Given the description of an element on the screen output the (x, y) to click on. 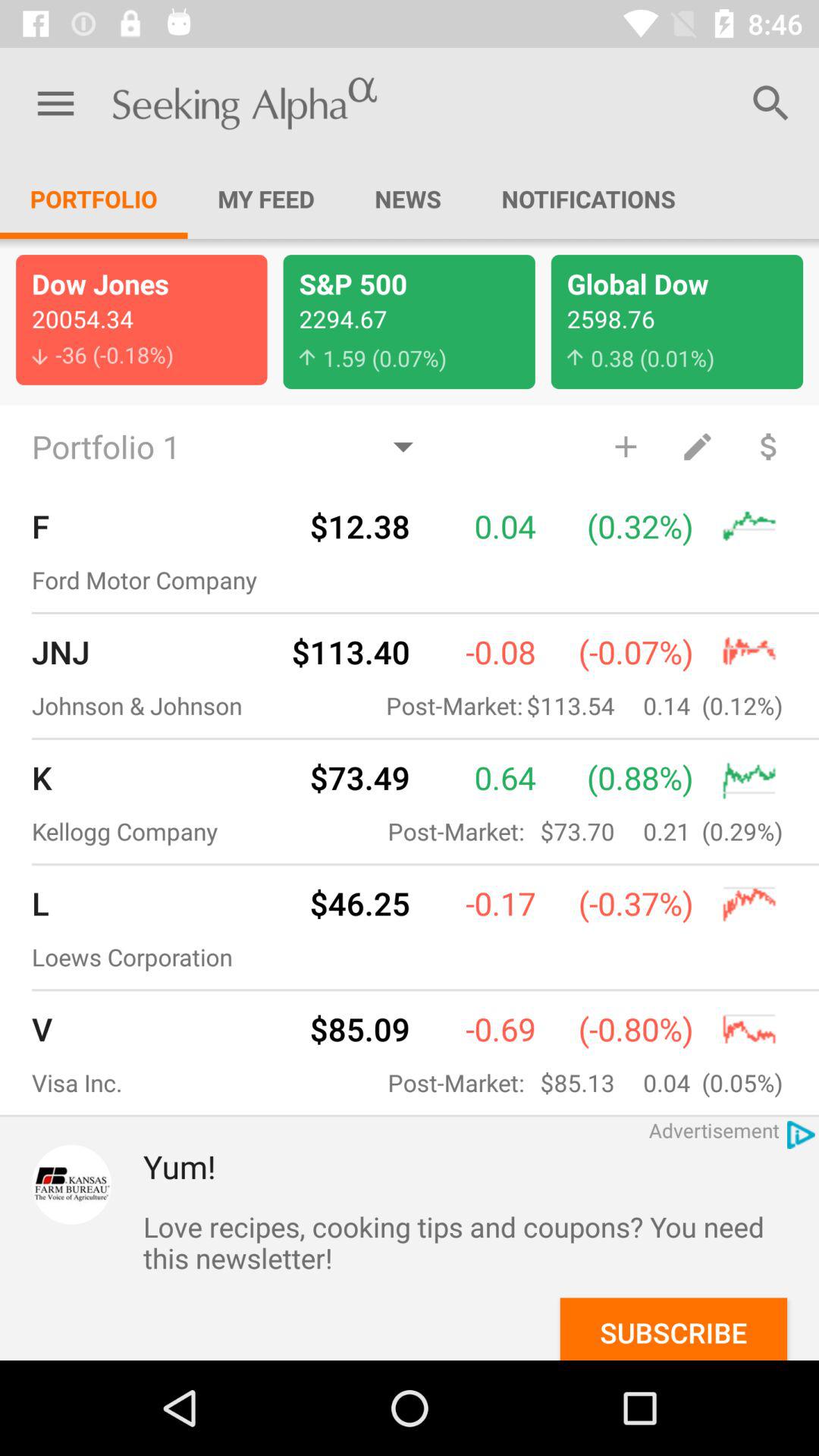
add to portfolio (625, 446)
